Given the description of an element on the screen output the (x, y) to click on. 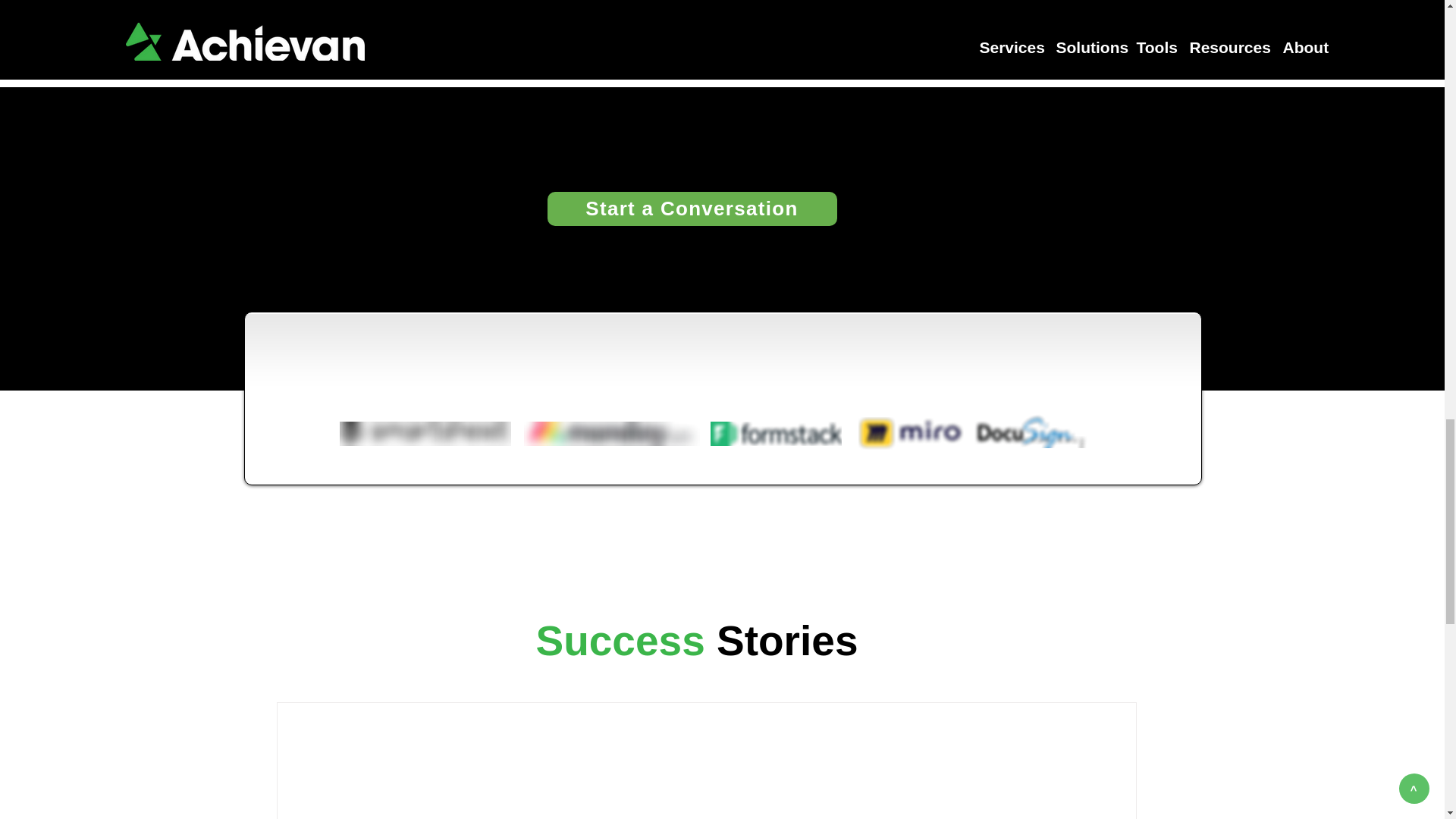
Start a Conversation (692, 208)
